Given the description of an element on the screen output the (x, y) to click on. 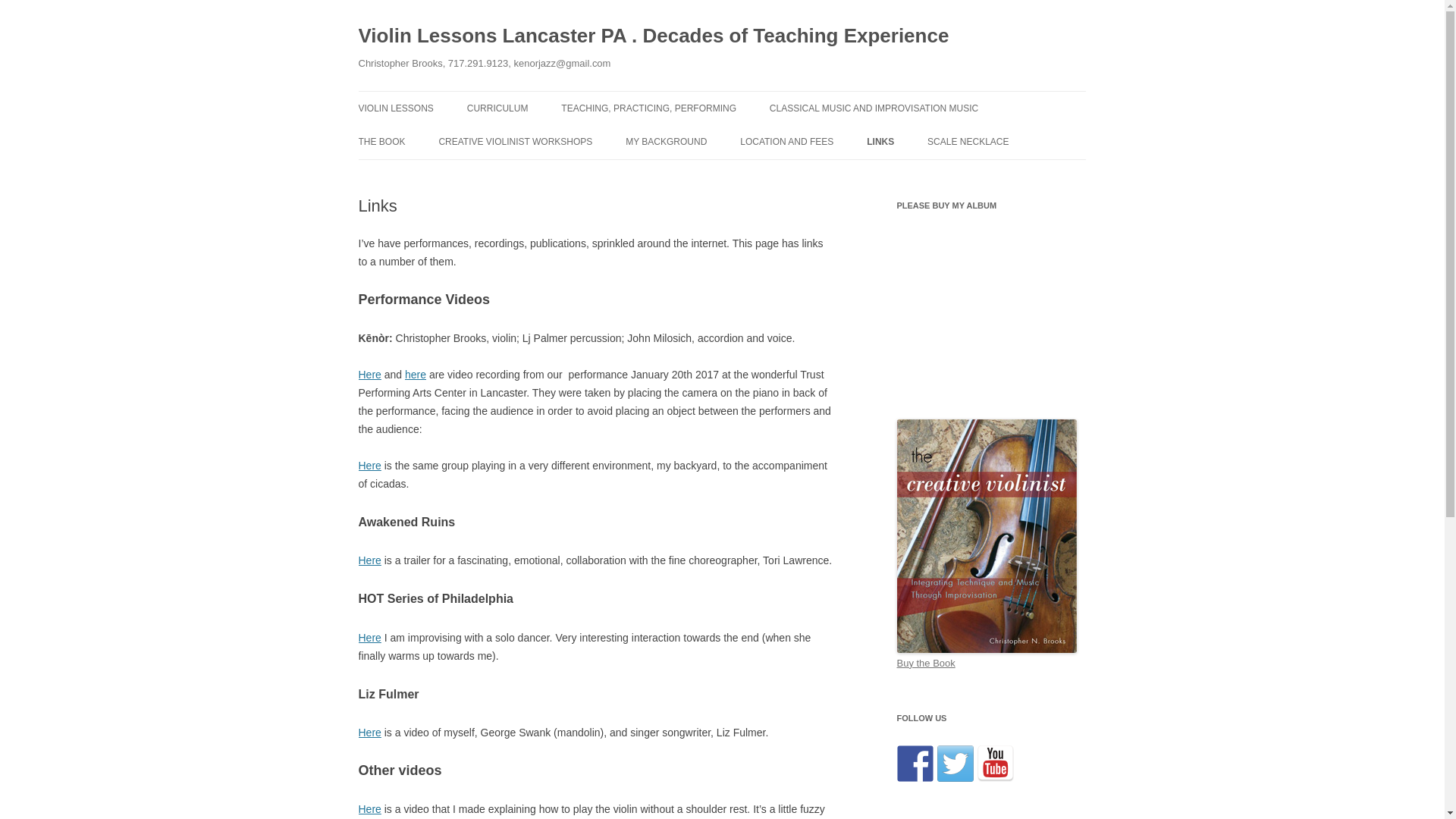
CLASSICAL MUSIC AND IMPROVISATION MUSIC (874, 108)
Buy the Book (925, 663)
Here (369, 374)
Christopher Brooks (994, 762)
kenorjewishjazz (955, 762)
CREATIVE VIOLINIST WORKSHOPS (515, 141)
Here (369, 732)
Here (369, 465)
MY BACKGROUND (666, 141)
